Given the description of an element on the screen output the (x, y) to click on. 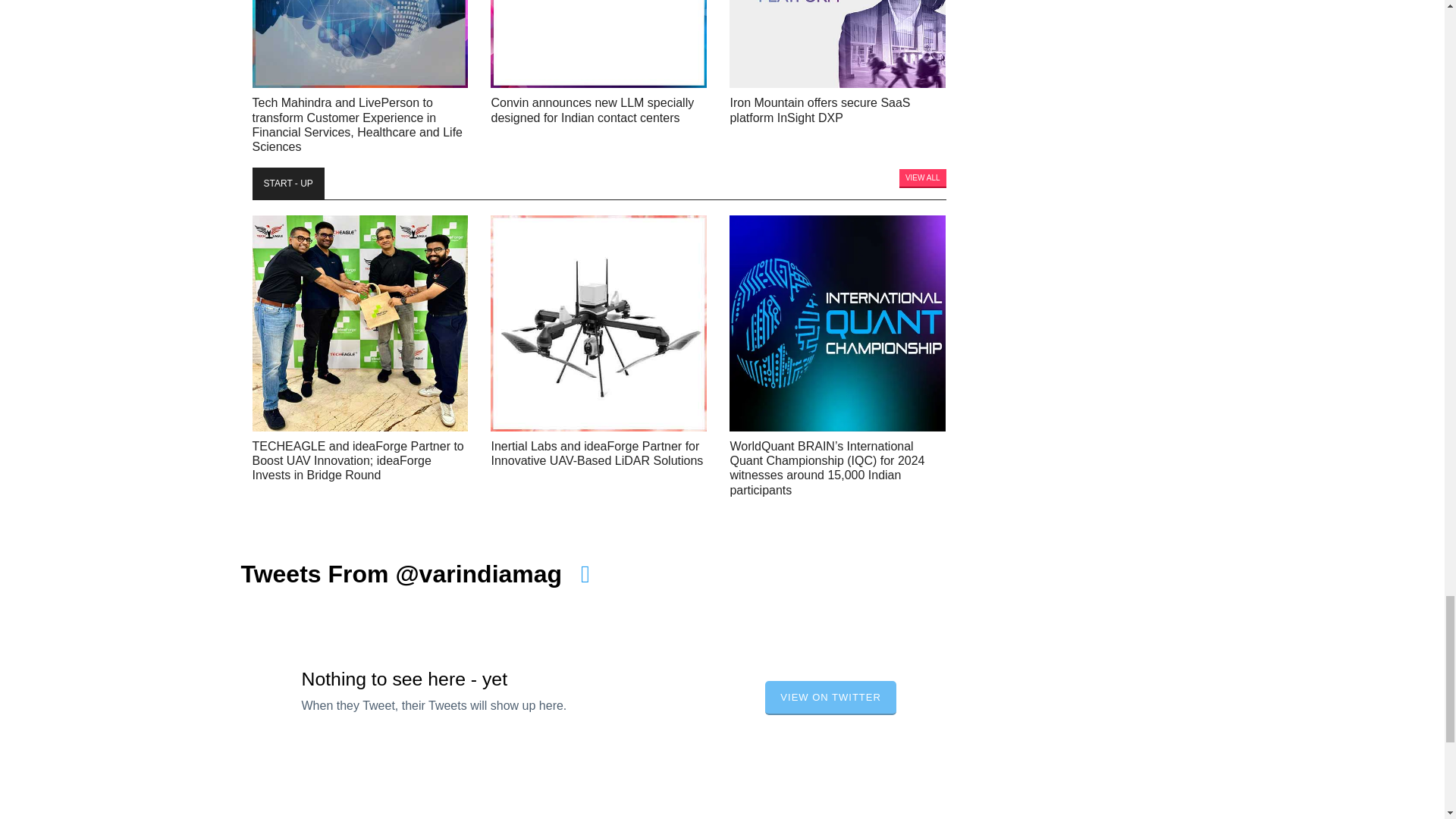
Iron Mountain offers secure SaaS platform InSight DXP (836, 43)
